Given the description of an element on the screen output the (x, y) to click on. 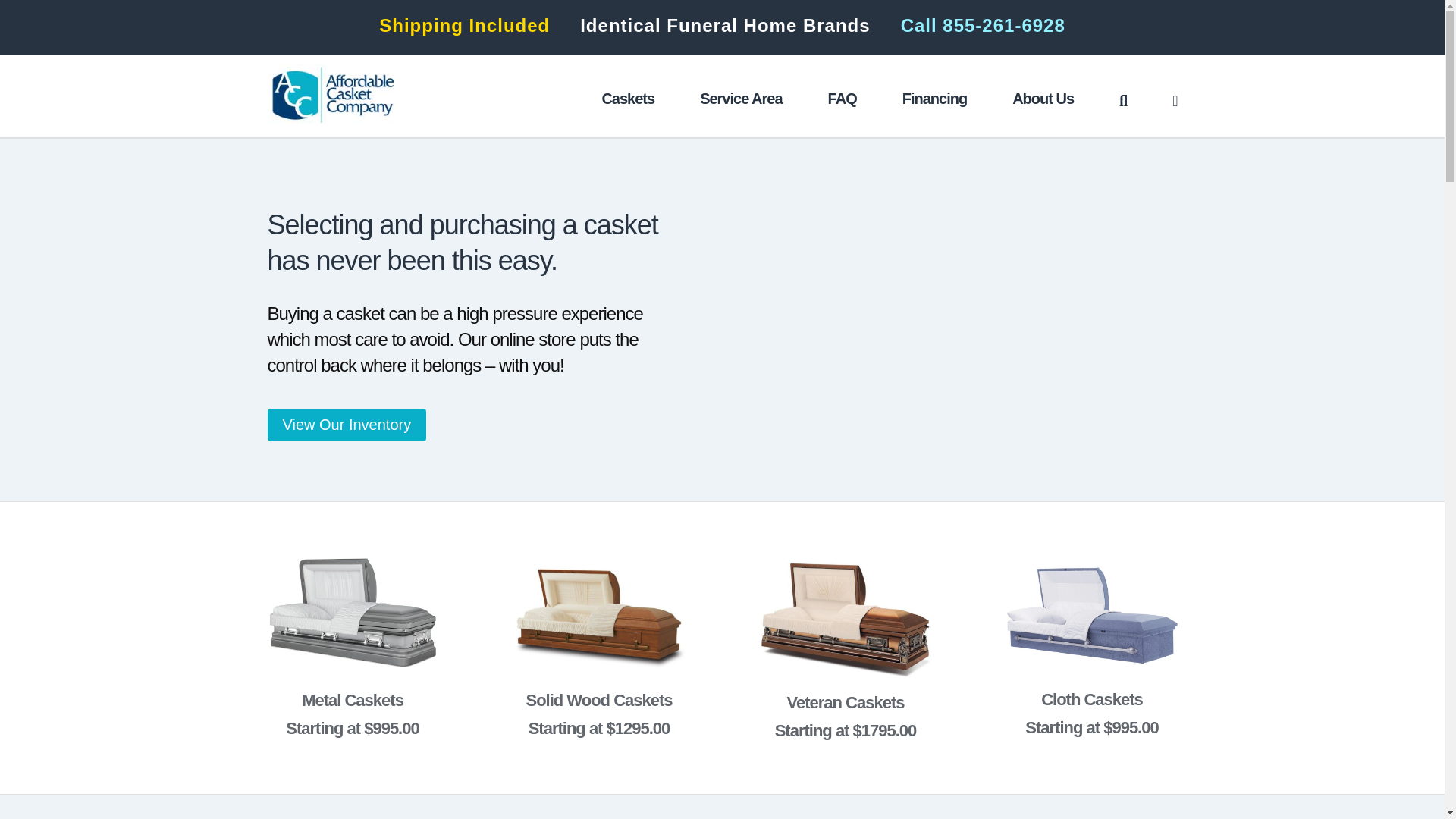
FAQ (842, 98)
About Us (1042, 98)
View Our Inventory (346, 424)
855-261-6928 (1003, 25)
Financing (934, 98)
Service Area (740, 98)
View Our Inventory (346, 425)
Caskets (627, 98)
